Given the description of an element on the screen output the (x, y) to click on. 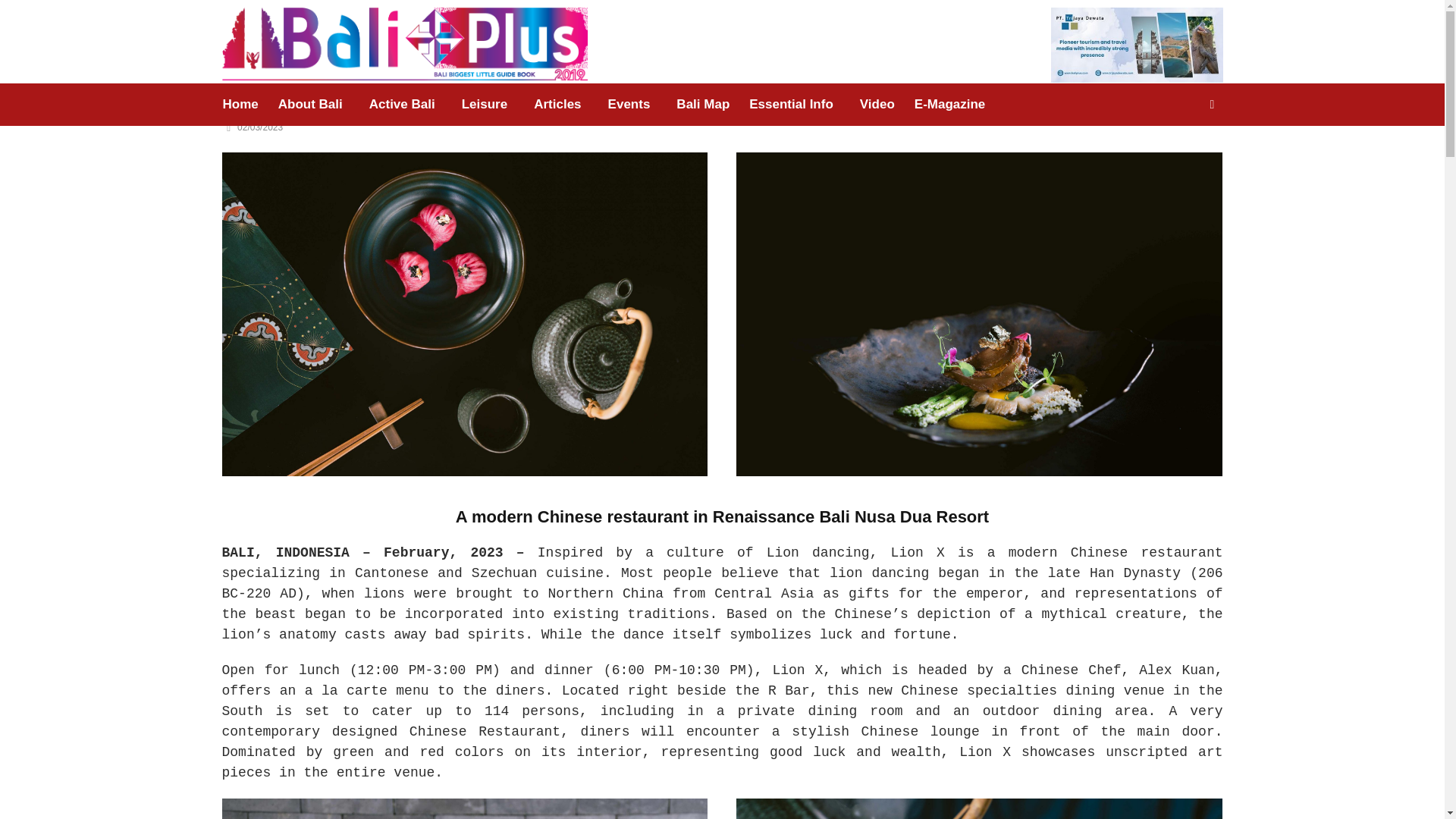
Events (629, 104)
Essential Info (791, 104)
Active Bali (402, 104)
Leisure (483, 104)
Home (244, 104)
Articles (557, 104)
Bali Map (702, 104)
About Bali (309, 104)
